Given the description of an element on the screen output the (x, y) to click on. 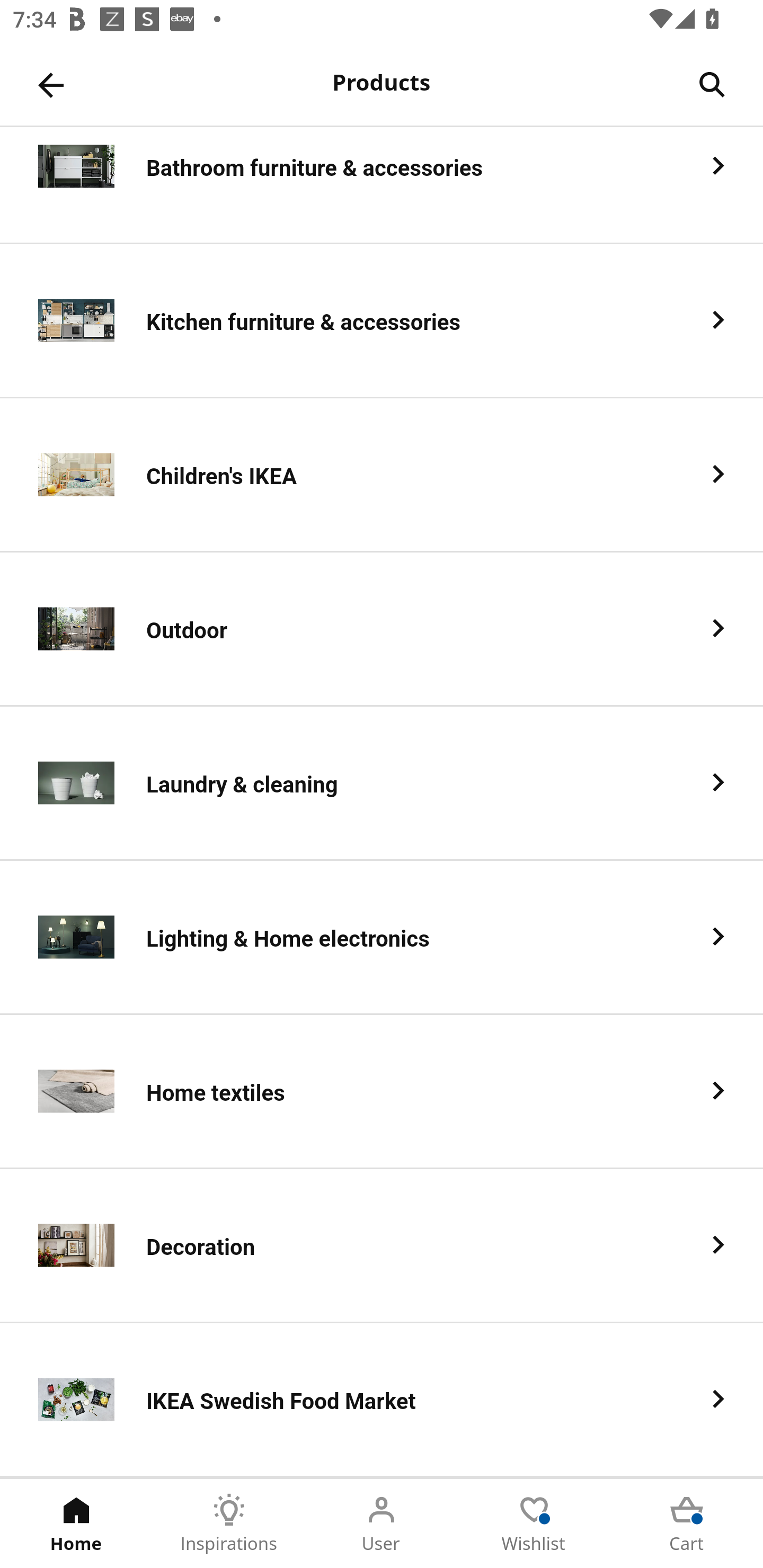
Bathroom furniture & accessories (381, 185)
Kitchen furniture & accessories (381, 321)
Children's IKEA (381, 474)
Outdoor (381, 629)
Laundry & cleaning (381, 783)
Lighting & Home electronics (381, 937)
Home textiles (381, 1091)
Decoration (381, 1246)
IKEA Swedish Food Market (381, 1400)
Home
Tab 1 of 5 (76, 1522)
Inspirations
Tab 2 of 5 (228, 1522)
User
Tab 3 of 5 (381, 1522)
Wishlist
Tab 4 of 5 (533, 1522)
Cart
Tab 5 of 5 (686, 1522)
